Given the description of an element on the screen output the (x, y) to click on. 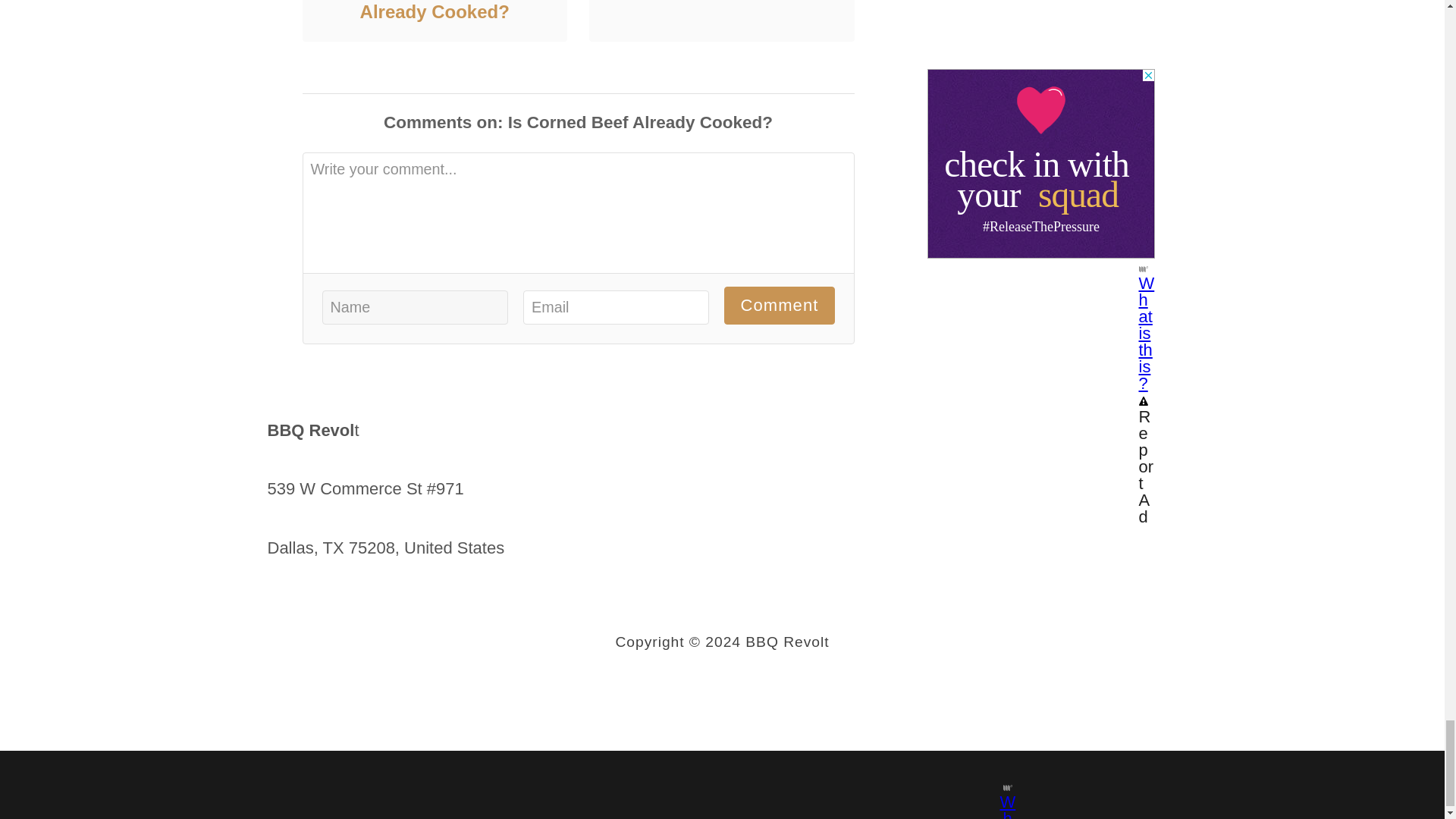
Comment (778, 305)
Is Smoked Sausage Already Cooked? (434, 13)
